Given the description of an element on the screen output the (x, y) to click on. 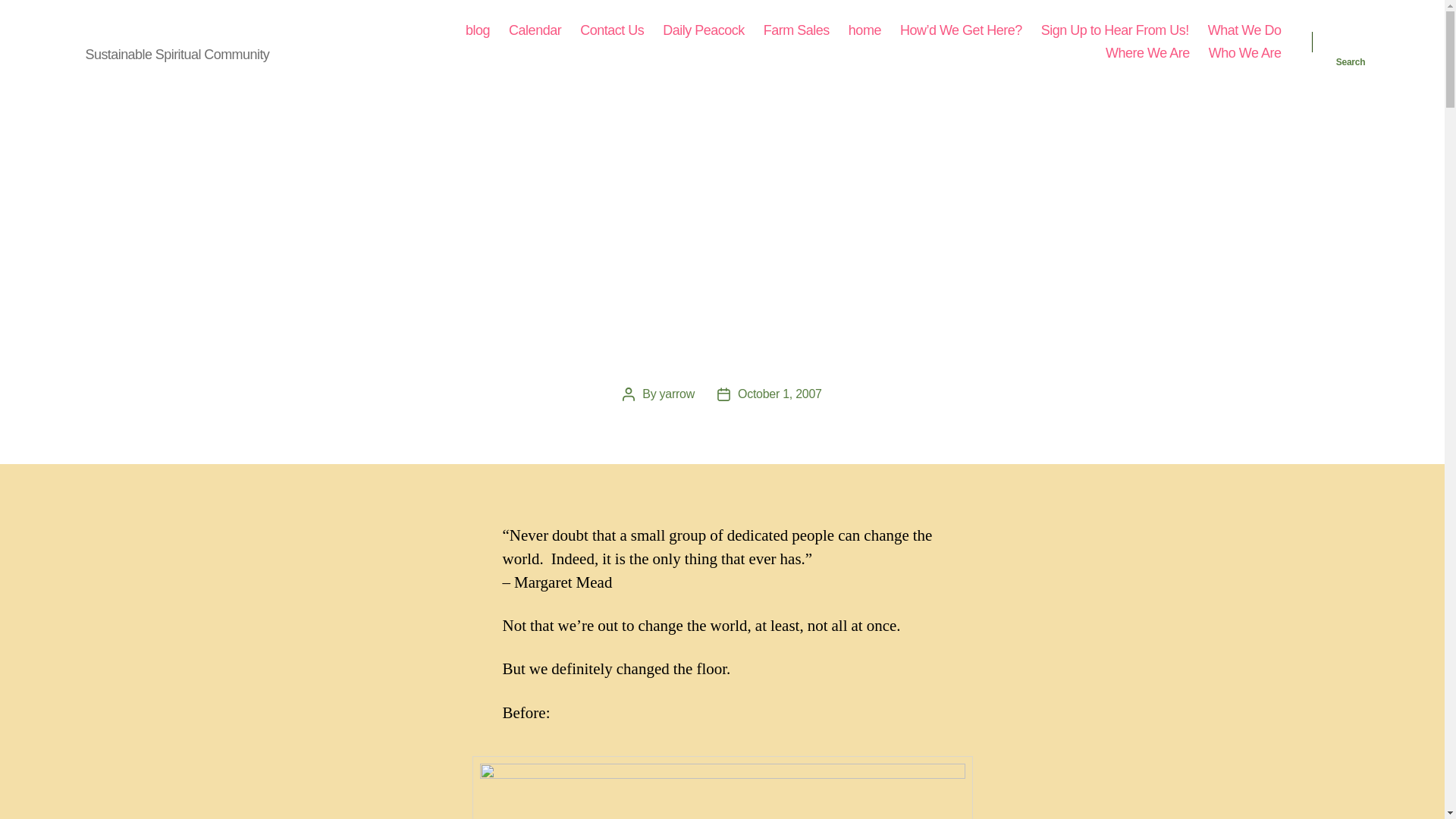
blog (477, 30)
home (864, 30)
Daily Peacock (703, 30)
Contact Us (611, 30)
Search (1350, 41)
yarrow (676, 393)
Sign Up to Hear From Us! (1115, 30)
October 1, 2007 (780, 393)
Calendar (534, 30)
Sunflower River (148, 30)
